Given the description of an element on the screen output the (x, y) to click on. 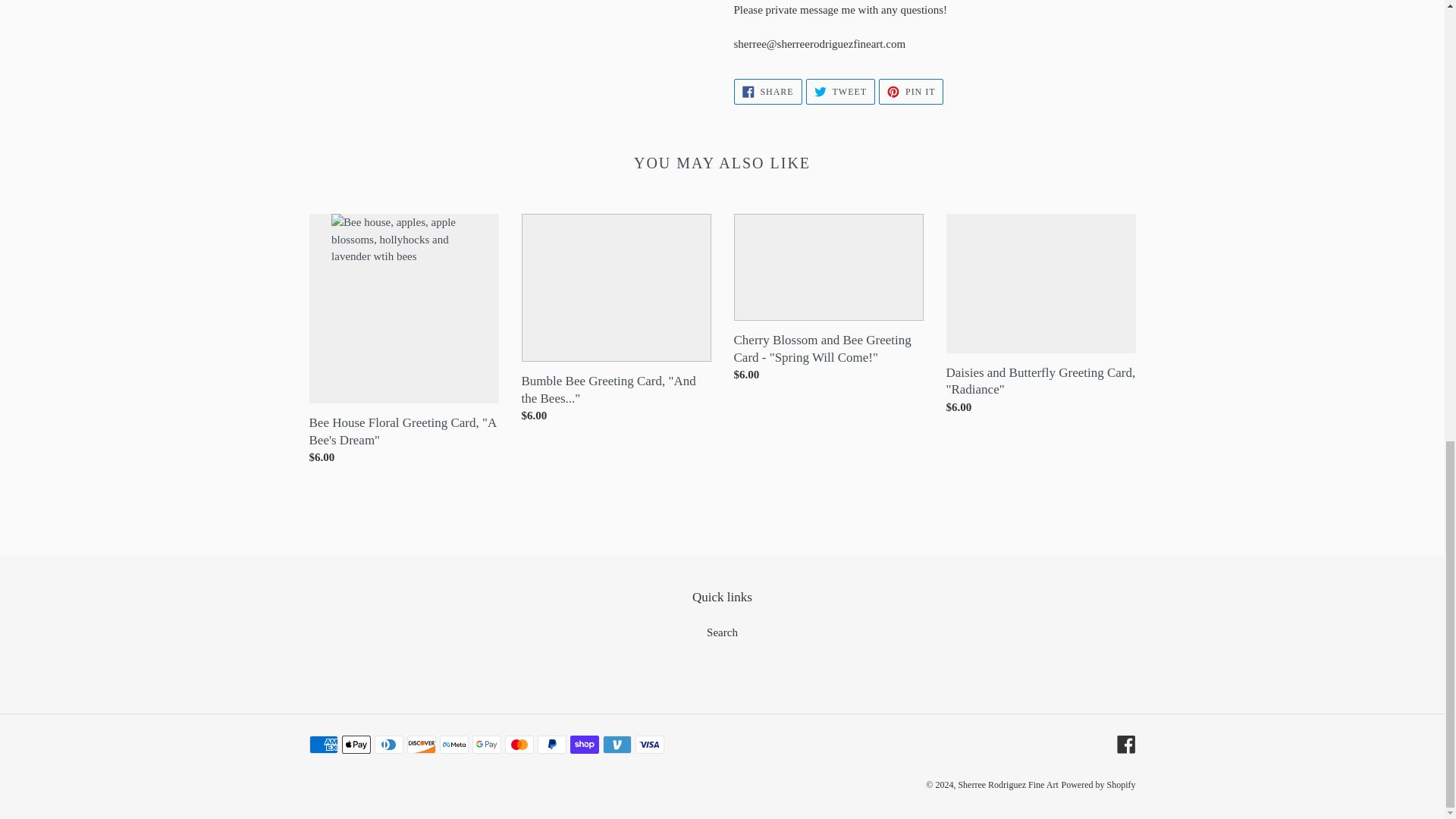
Sherree Rodriguez Fine Art (1008, 784)
Facebook (911, 91)
Search (1125, 743)
Powered by Shopify (722, 632)
Cherry Blossom and Bee Greeting Card - "Spring Will Come!" (1098, 784)
Daisies and Butterfly Greeting Card, "Radiance" (828, 301)
